Given the description of an element on the screen output the (x, y) to click on. 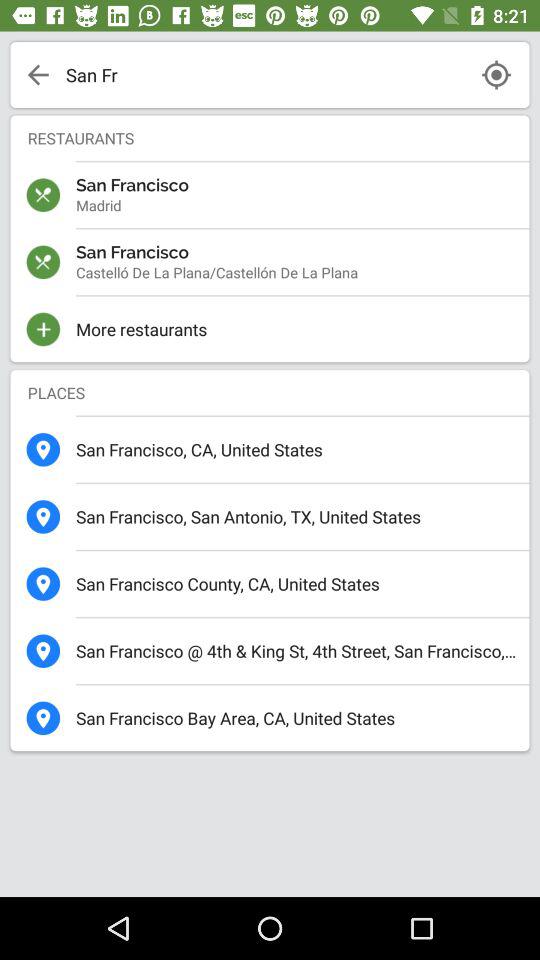
go back (38, 75)
